Given the description of an element on the screen output the (x, y) to click on. 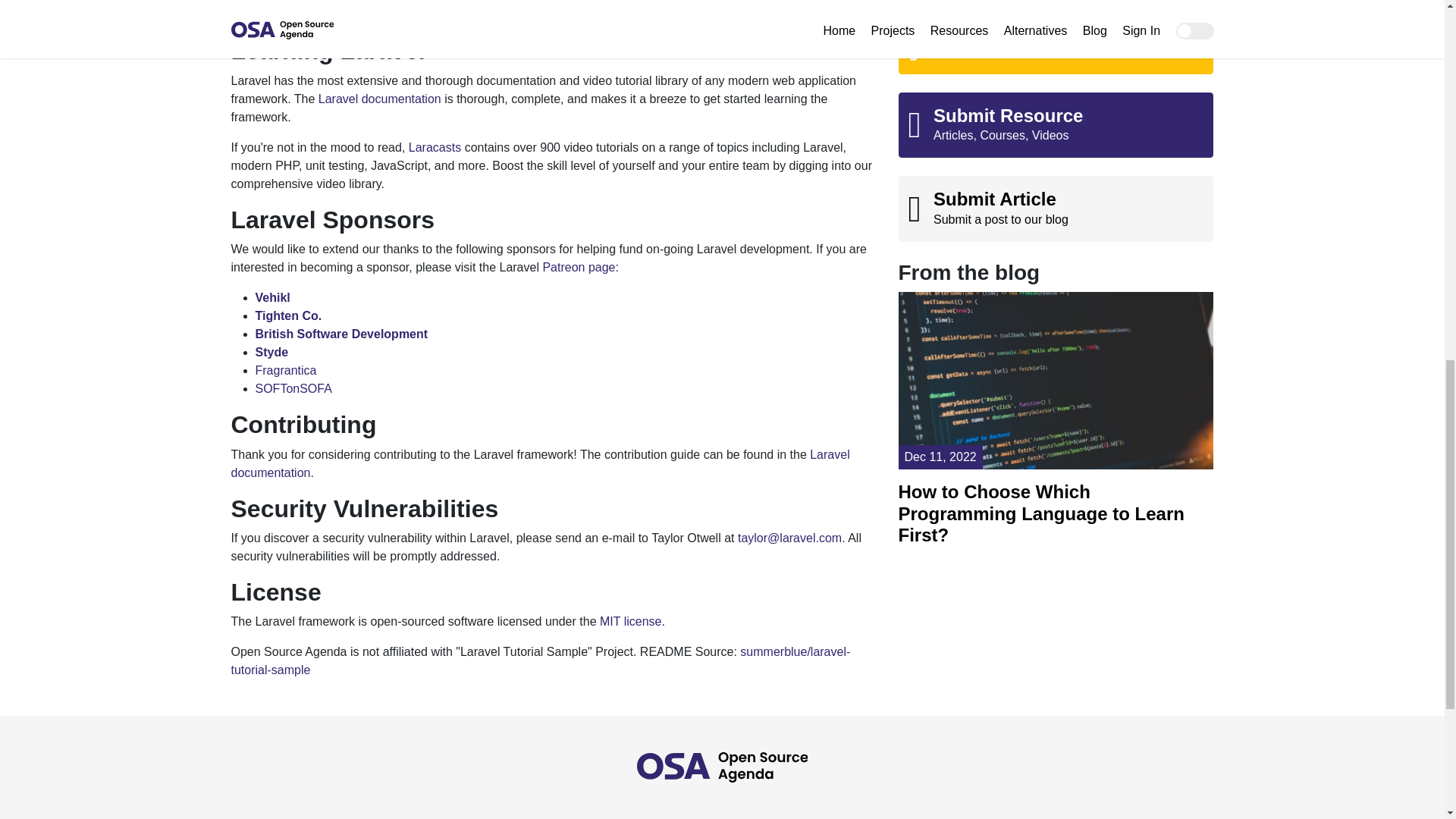
Styde (271, 351)
British Software Development (341, 333)
Laracasts (435, 146)
Patreon page (577, 267)
Vehikl (271, 297)
Laravel documentation (379, 98)
Tighten Co. (287, 315)
SOFTonSOFA (292, 388)
Laravel documentation (539, 463)
Fragrantica (284, 369)
